Given the description of an element on the screen output the (x, y) to click on. 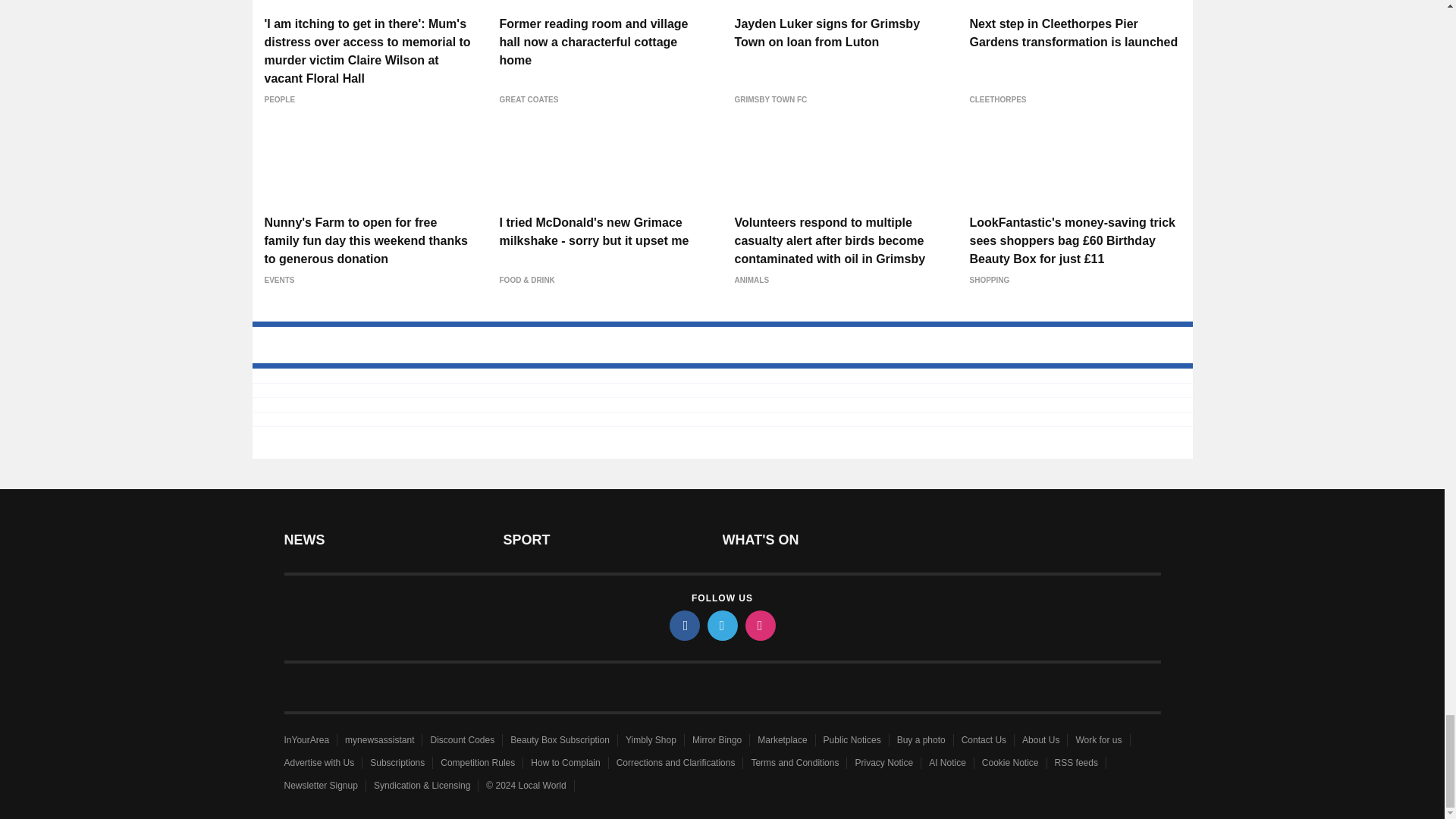
twitter (721, 625)
facebook (683, 625)
instagram (759, 625)
